Given the description of an element on the screen output the (x, y) to click on. 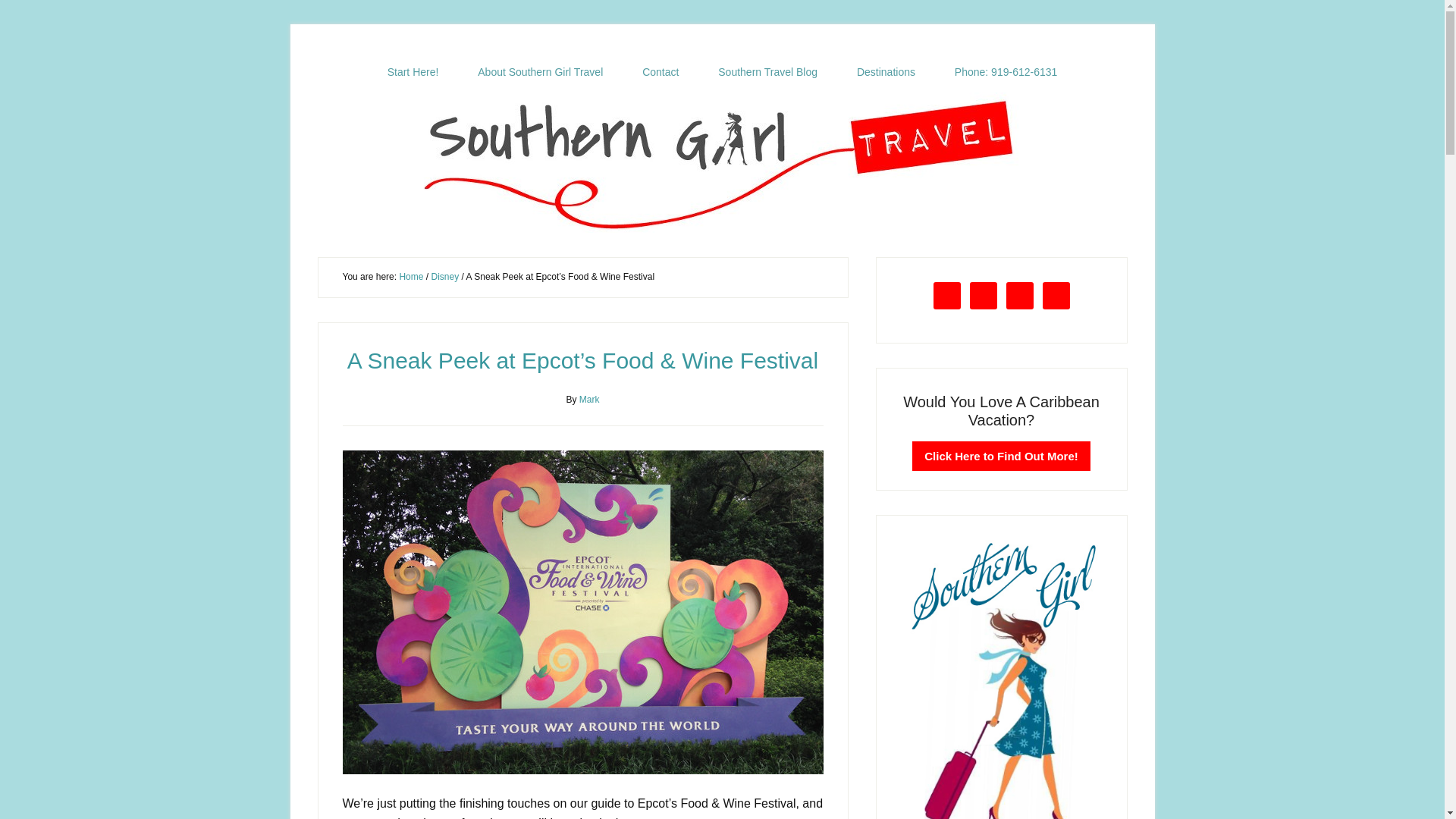
Contact (660, 71)
Destinations (885, 71)
Mark (589, 398)
Click Here to Find Out More! (1001, 455)
Start Here! (413, 71)
Southern Girl Travel (721, 162)
Home (410, 276)
Disney (444, 276)
Southern Travel Blog (767, 71)
About Southern Girl Travel (540, 71)
